Given the description of an element on the screen output the (x, y) to click on. 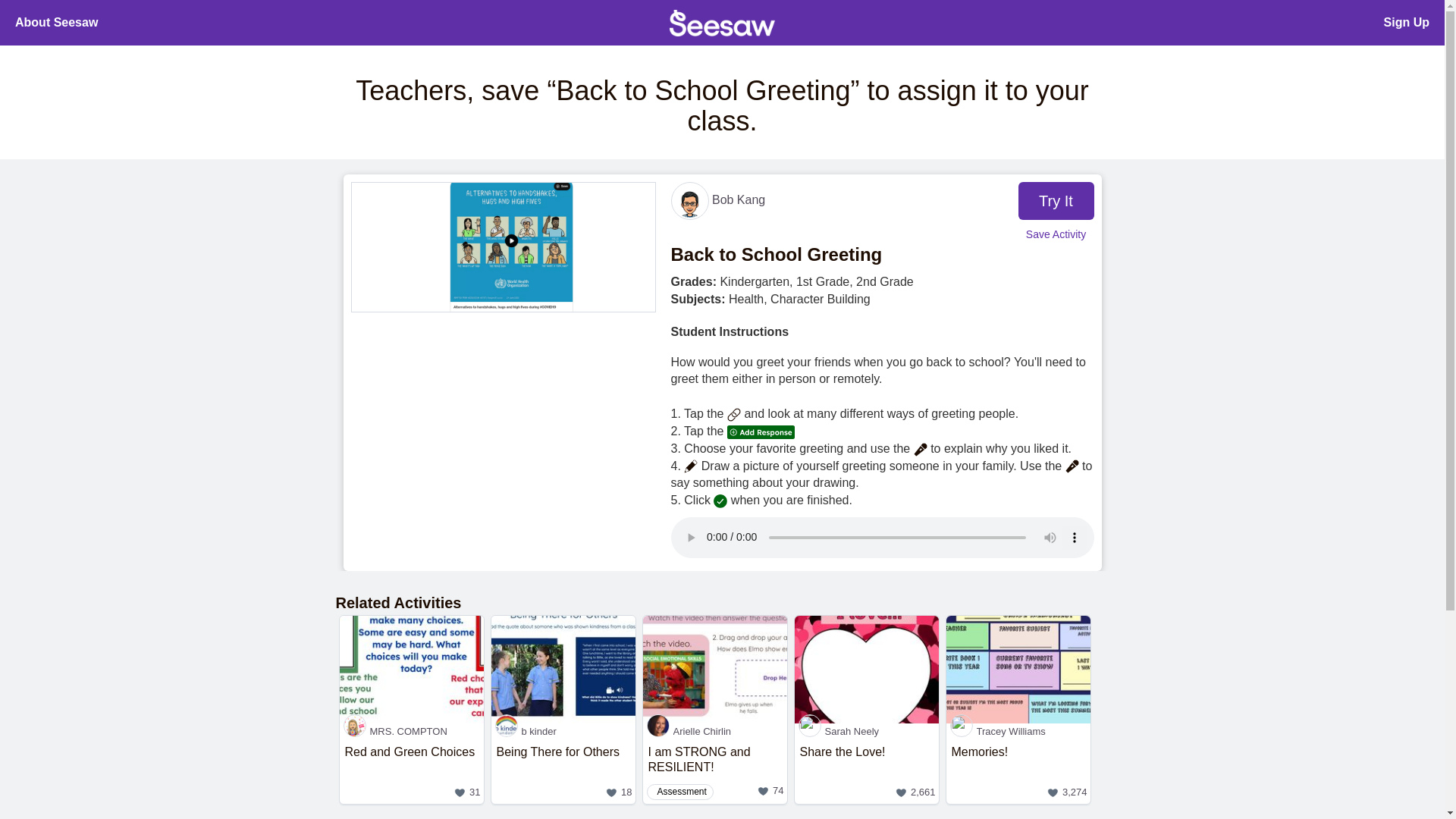
MRS. COMPTON (715, 771)
About Seesaw (411, 731)
Bob Kang (55, 22)
Arielle Chirlin (717, 199)
Sarah Neely (715, 731)
Try It (866, 731)
Sign Up (1055, 200)
b kinder (1406, 22)
Tracey Williams (563, 731)
